Given the description of an element on the screen output the (x, y) to click on. 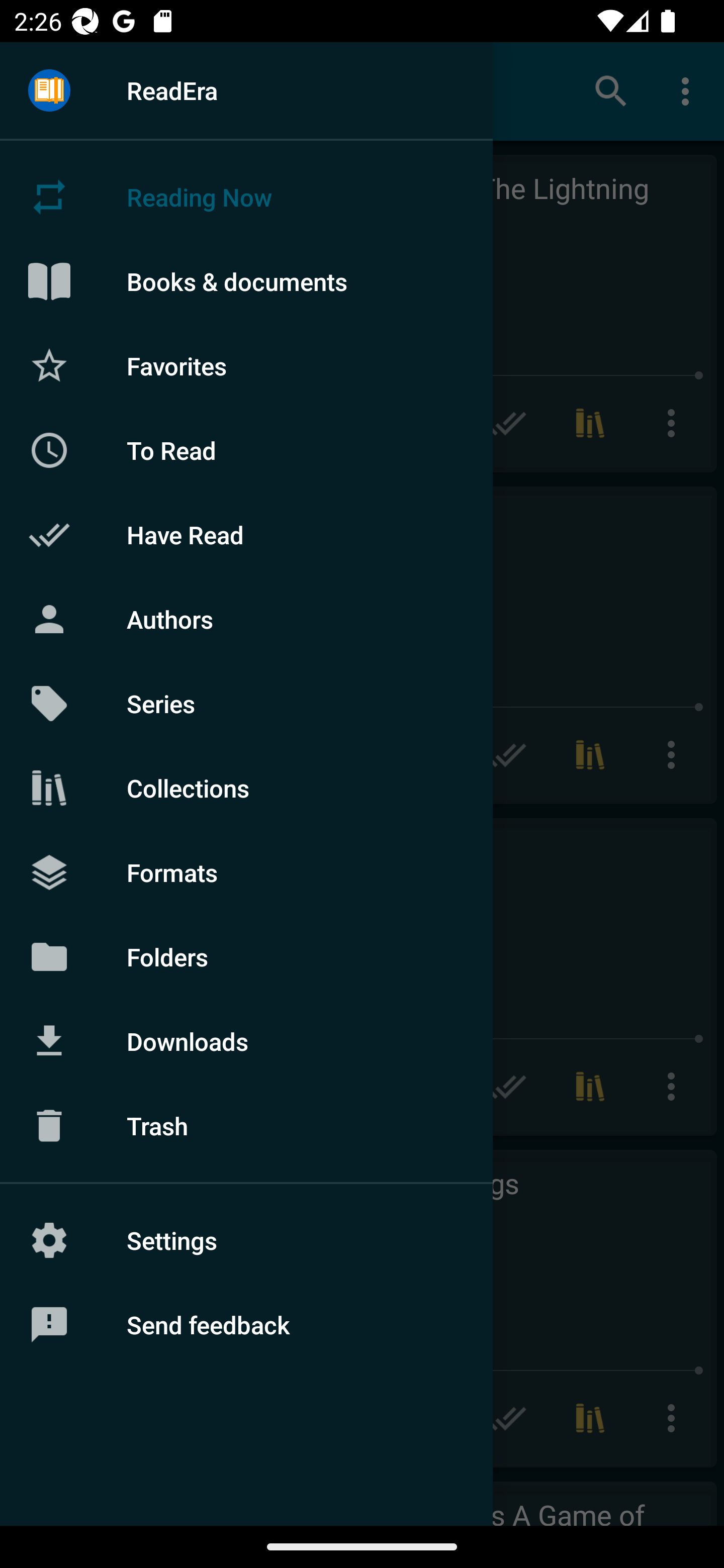
Menu (49, 91)
ReadEra (246, 89)
Search books & documents (611, 90)
More options (688, 90)
Reading Now (246, 197)
Books & documents (246, 281)
Favorites (246, 365)
To Read (246, 449)
Have Read (246, 534)
Authors (246, 619)
Series (246, 703)
Collections (246, 787)
Formats (246, 871)
Folders (246, 956)
Downloads (246, 1040)
Trash (246, 1125)
Settings (246, 1239)
Send feedback (246, 1324)
